Given the description of an element on the screen output the (x, y) to click on. 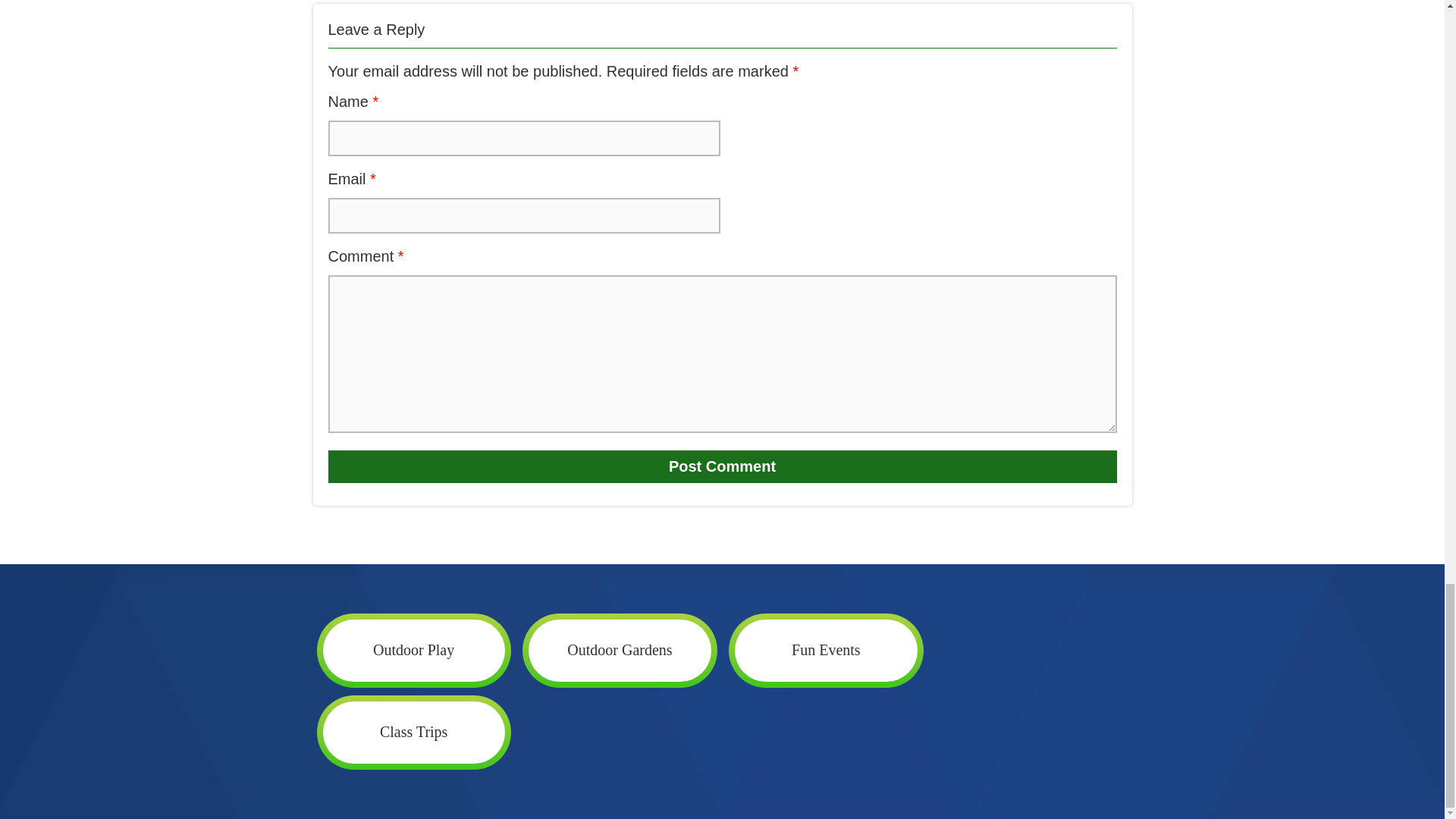
Class Trips (414, 732)
Outdoor Play (414, 649)
Post Comment (721, 466)
Fun Events (826, 649)
Outdoor Gardens (619, 649)
Post Comment (721, 466)
